Given the description of an element on the screen output the (x, y) to click on. 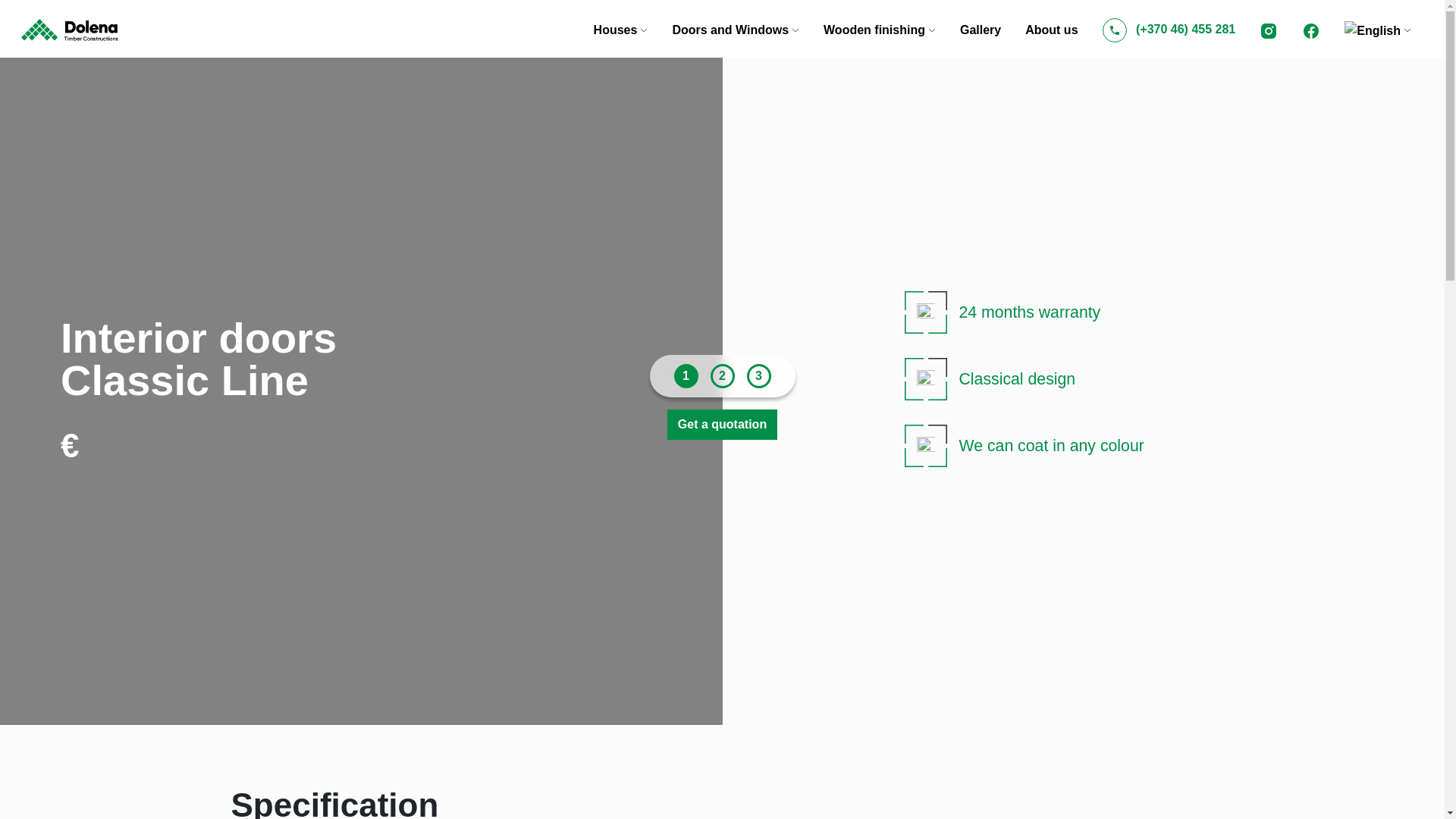
Get a quotation (721, 424)
Houses (620, 28)
Wooden finishing (878, 28)
Doors and Windows (734, 28)
Gallery (980, 28)
About us (1051, 28)
